Given the description of an element on the screen output the (x, y) to click on. 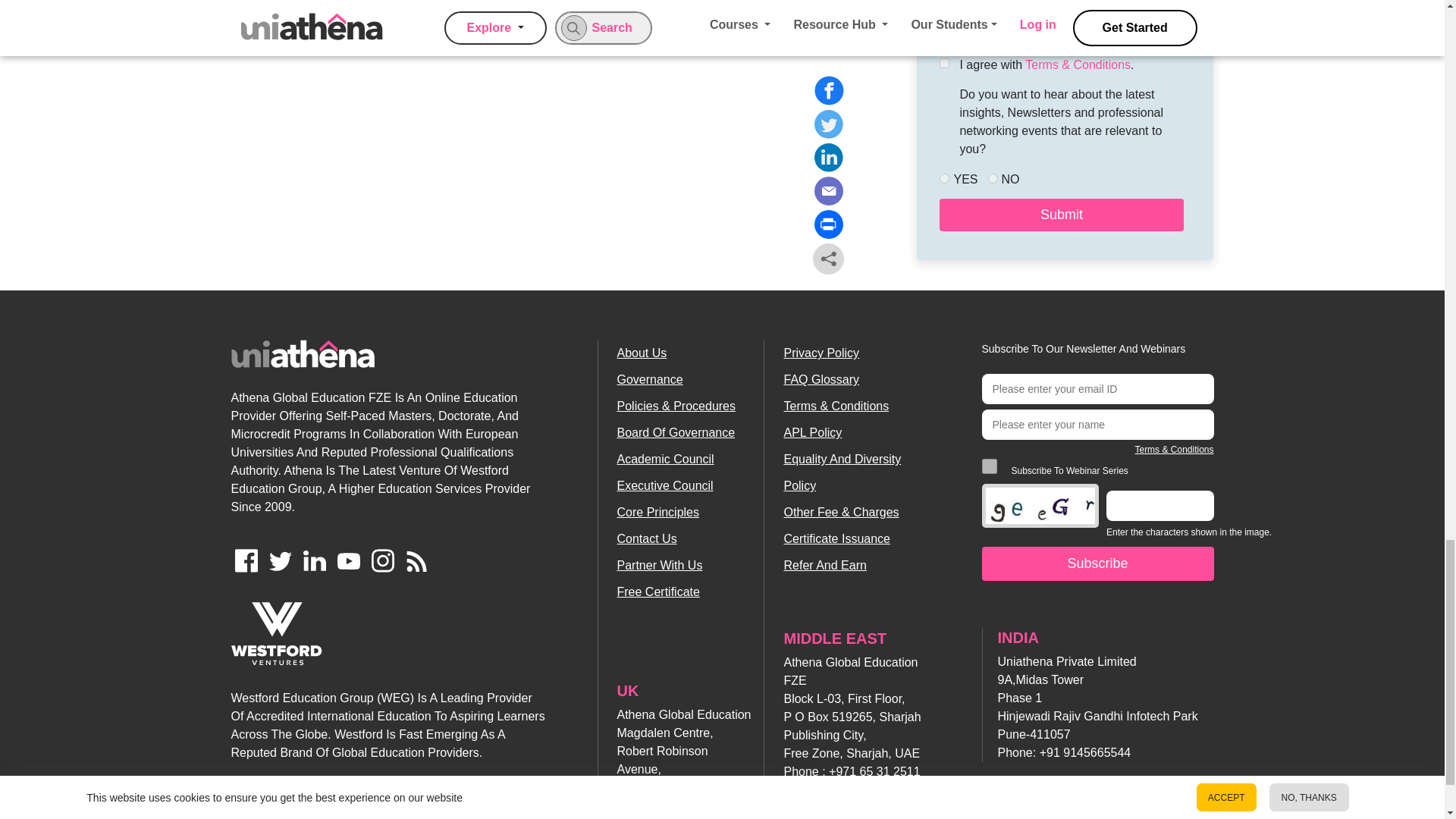
Image CAPTCHA (1040, 505)
yes (944, 178)
1 (944, 62)
no (992, 178)
1 (988, 466)
Submit (1060, 214)
Subscribe (1096, 563)
